Given the description of an element on the screen output the (x, y) to click on. 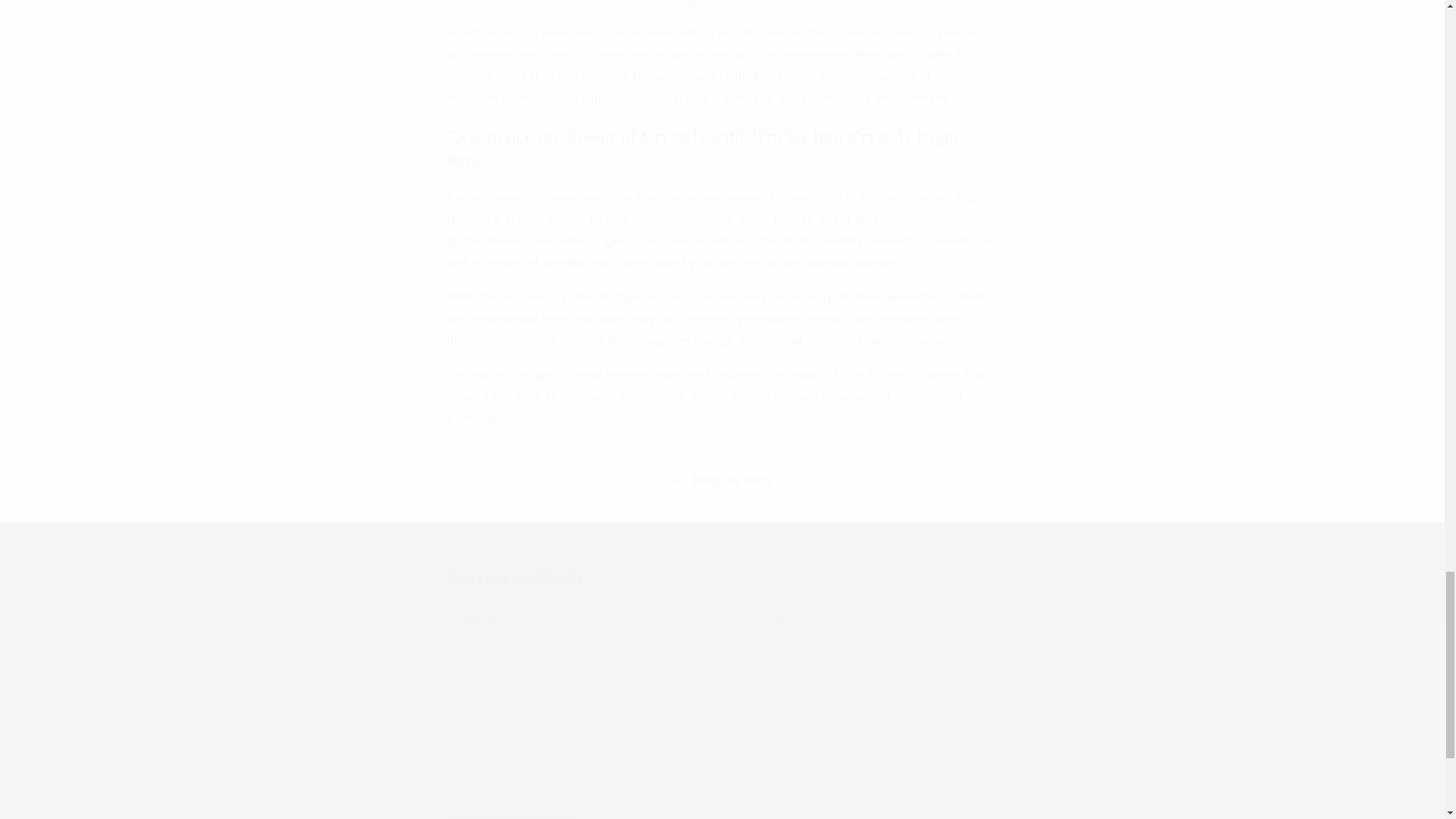
Post comment (510, 804)
Post comment (510, 804)
here (529, 395)
